Given the description of an element on the screen output the (x, y) to click on. 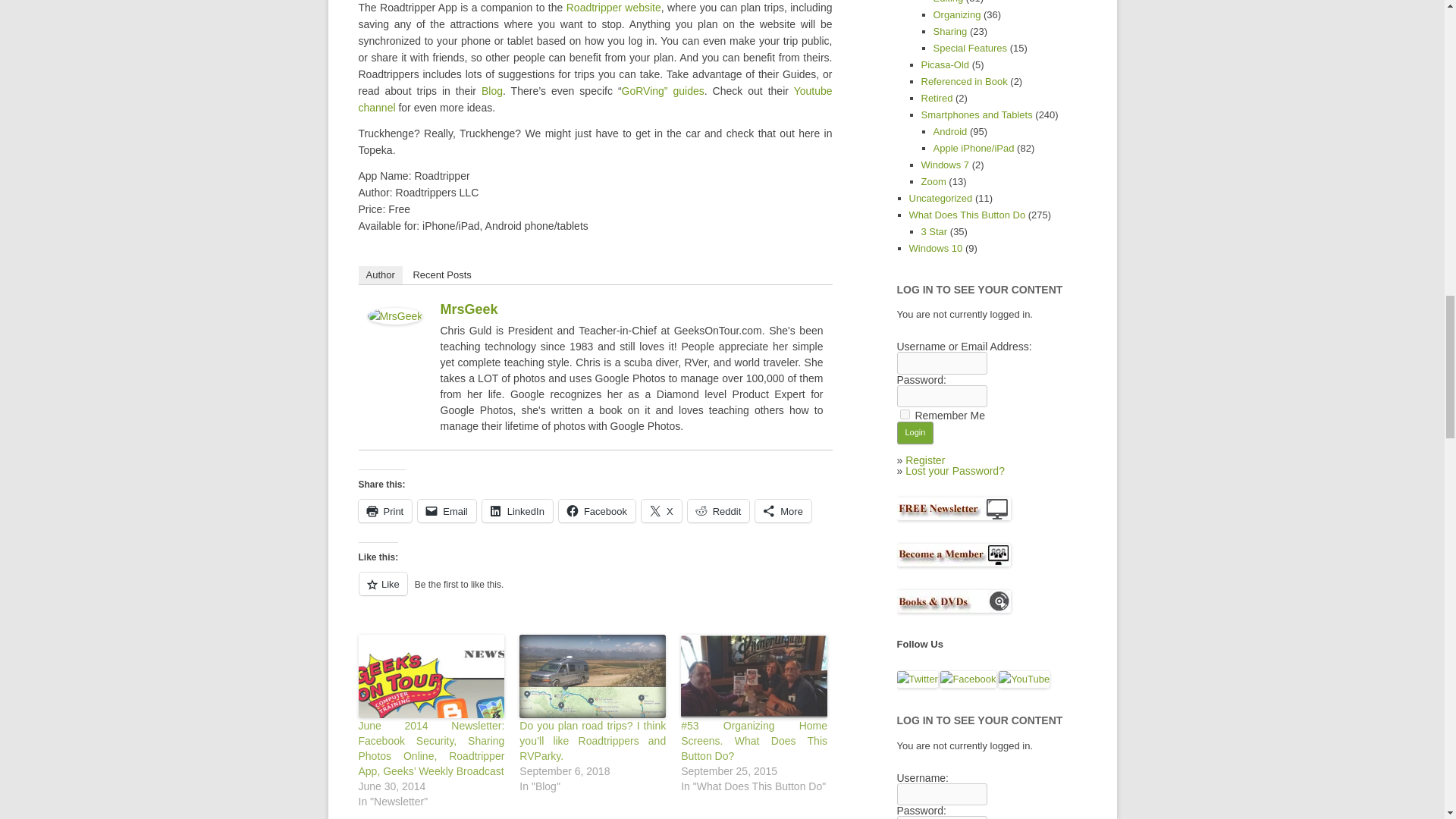
MrsGeek (394, 320)
Click to share on Reddit (718, 510)
Like or Reblog (594, 592)
Click to email a link to a friend (446, 510)
Login (914, 432)
Click to share on Facebook (596, 510)
forever (903, 414)
Click to share on LinkedIn (517, 510)
Roadtripper website (613, 7)
Click to print (385, 510)
Click to share on X (661, 510)
